Given the description of an element on the screen output the (x, y) to click on. 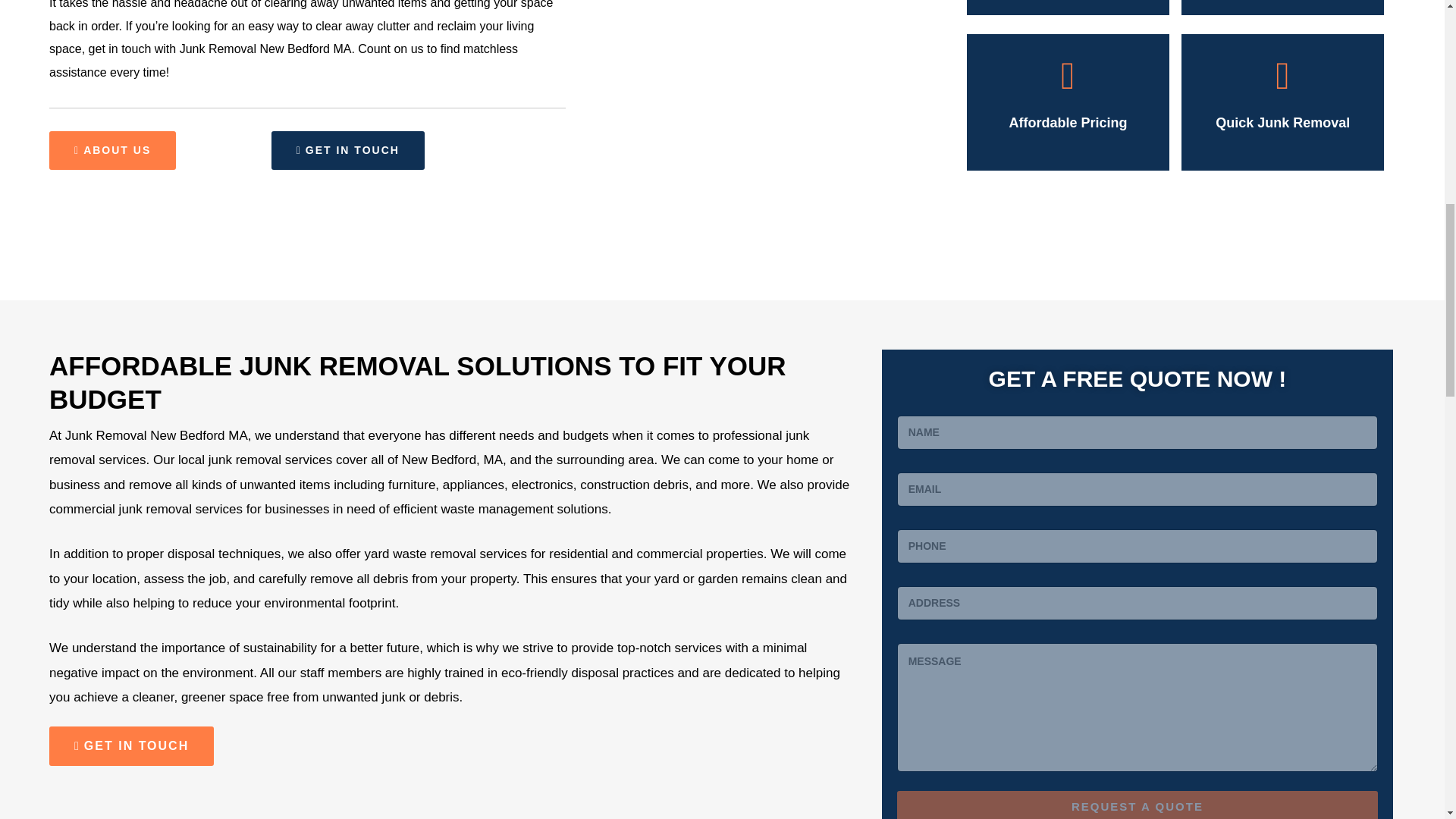
REQUEST A QUOTE (1137, 805)
ABOUT US (112, 149)
GET IN TOUCH (131, 745)
GET IN TOUCH (347, 149)
